Given the description of an element on the screen output the (x, y) to click on. 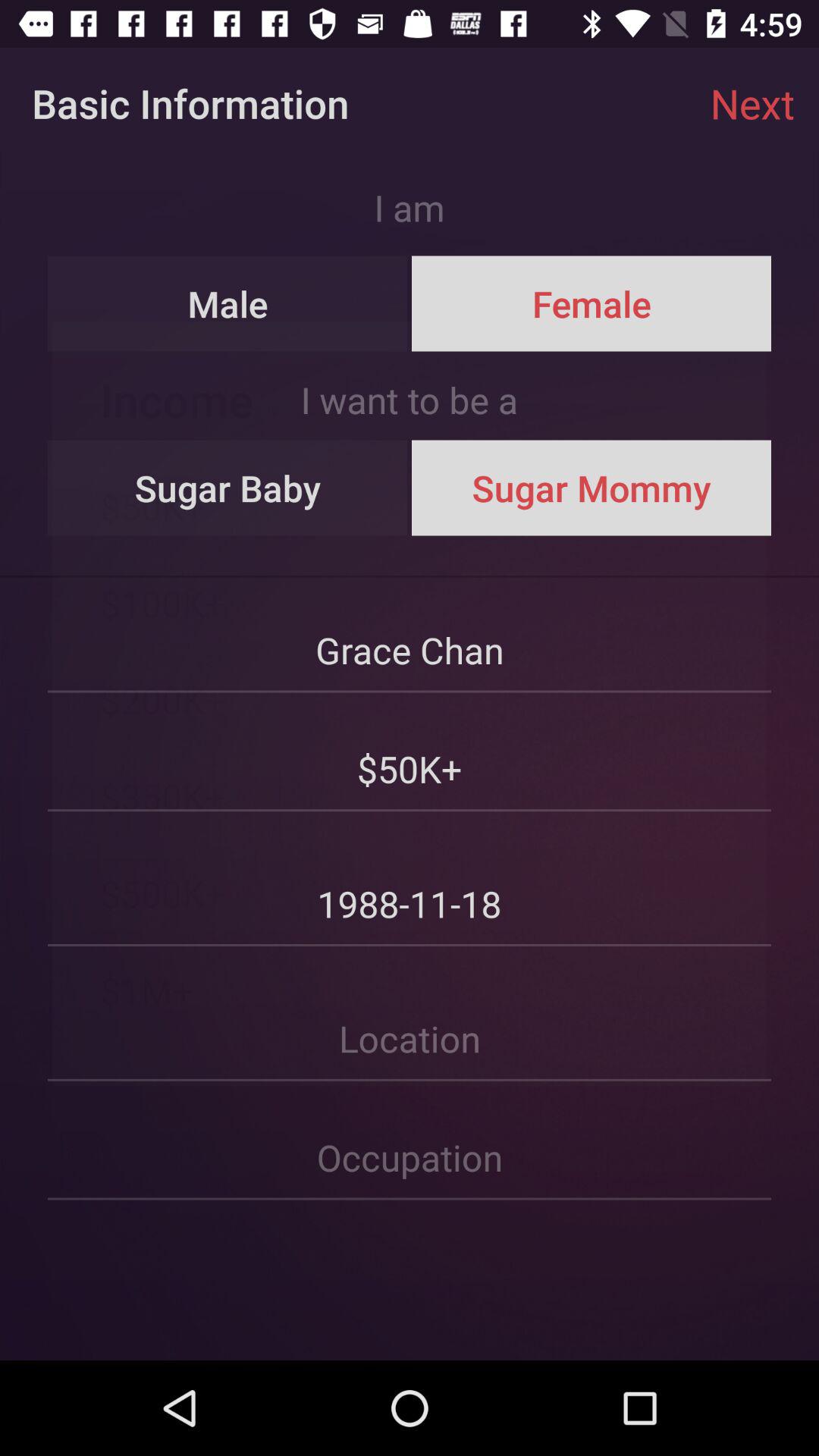
launch item to the right of the male item (591, 303)
